Given the description of an element on the screen output the (x, y) to click on. 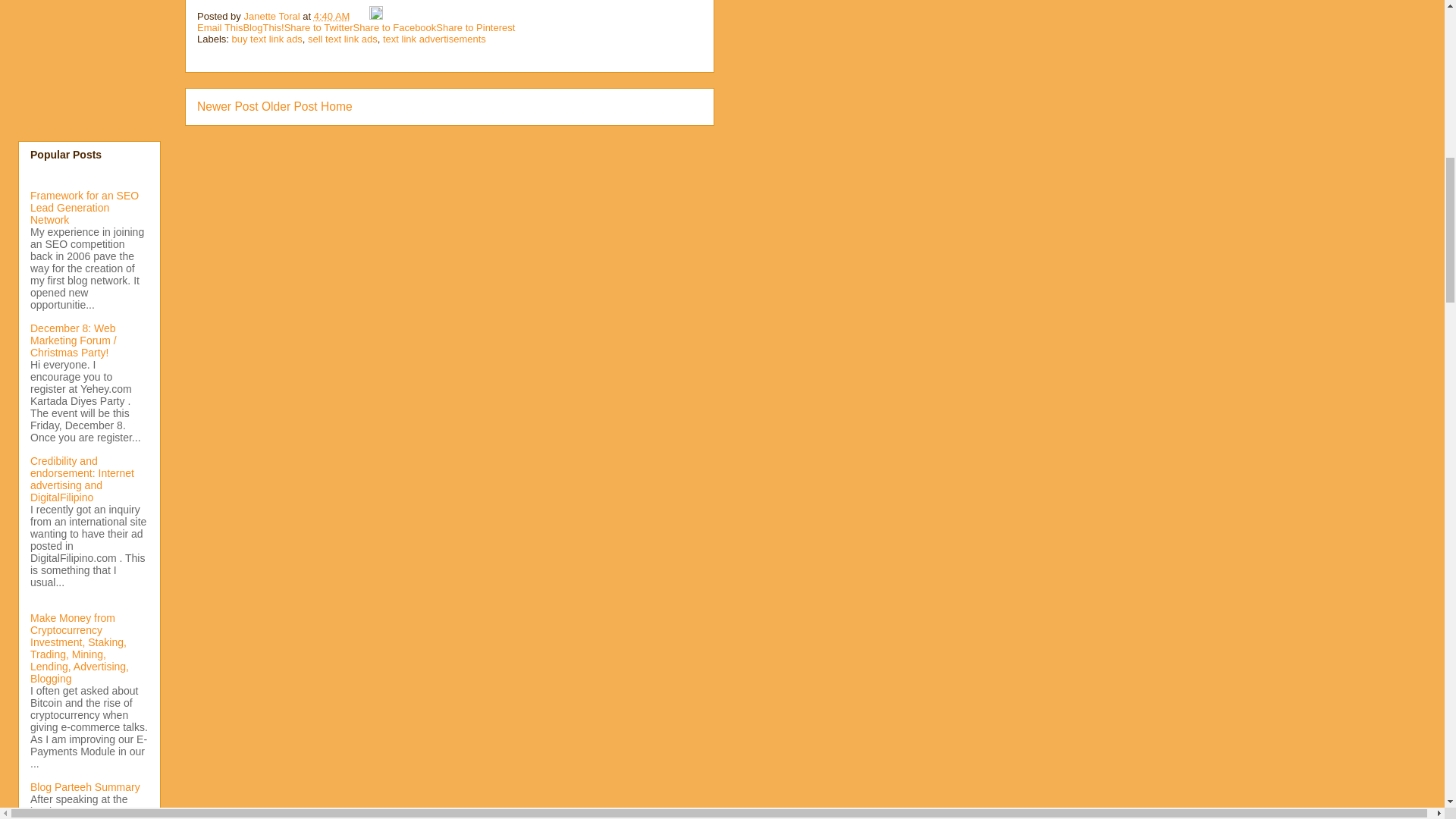
Framework for an SEO Lead Generation Network (84, 207)
Share to Pinterest (475, 27)
Email This (219, 27)
Share to Twitter (318, 27)
Share to Facebook (393, 27)
Blog Parteeh Summary (84, 787)
buy text link ads (266, 39)
author profile (272, 16)
Share to Facebook (393, 27)
Share to Twitter (318, 27)
Newer Post (227, 106)
Home (336, 106)
Janette Toral (272, 16)
Older Post (289, 106)
